Given the description of an element on the screen output the (x, y) to click on. 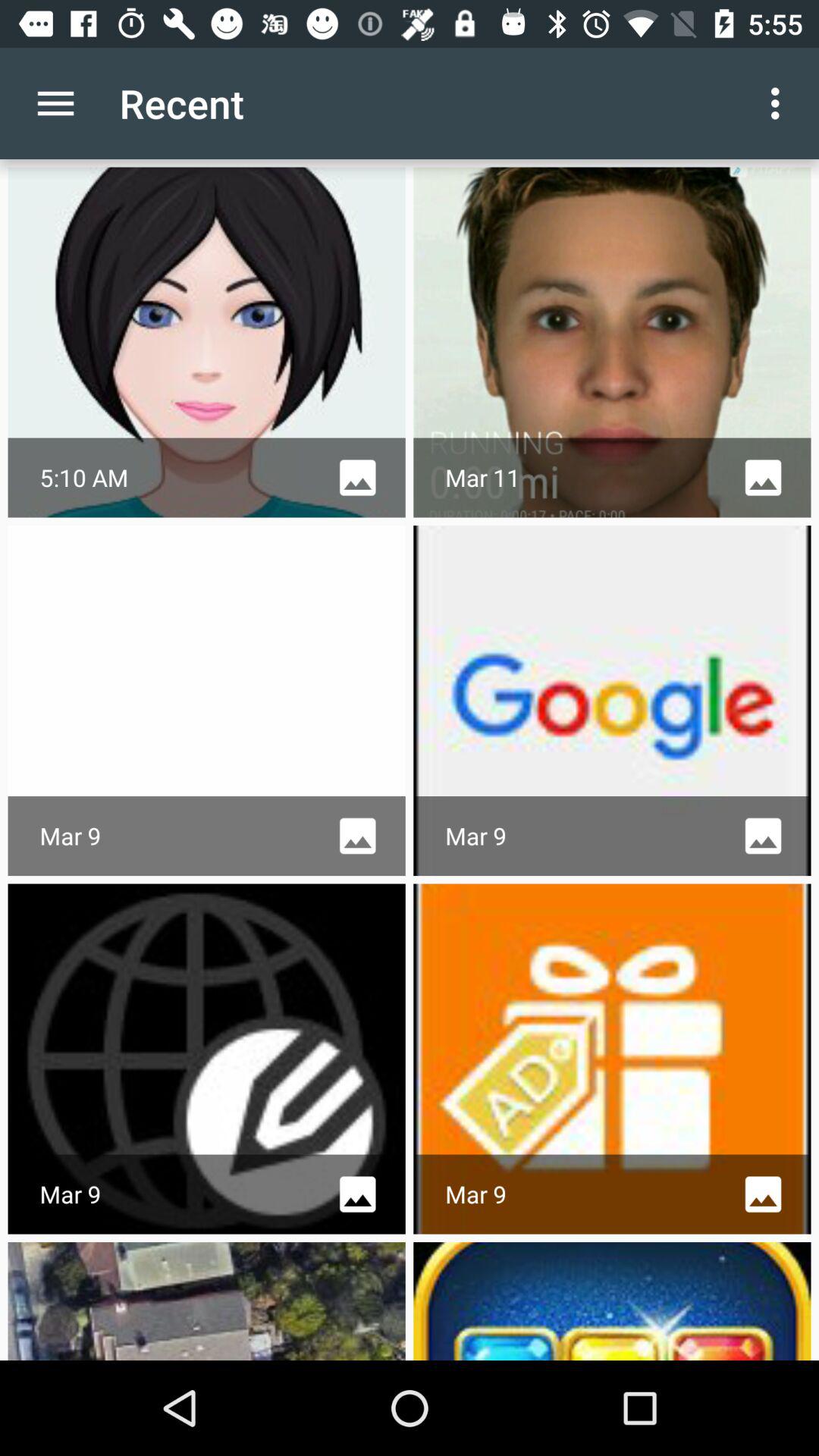
launch the app next to the recent (779, 103)
